Given the description of an element on the screen output the (x, y) to click on. 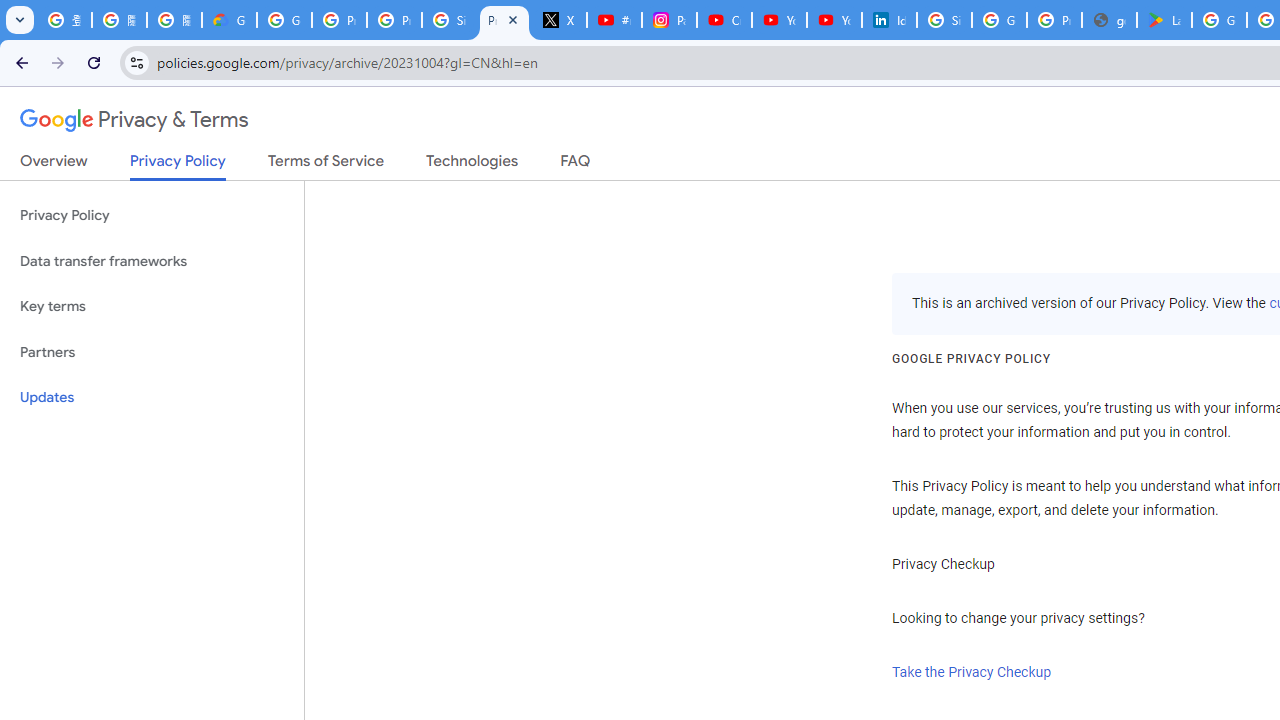
Data transfer frameworks (152, 261)
Sign in - Google Accounts (943, 20)
YouTube Culture & Trends - YouTube Top 10, 2021 (833, 20)
Sign in - Google Accounts (449, 20)
Key terms (152, 306)
Last Shelter: Survival - Apps on Google Play (1163, 20)
